Given the description of an element on the screen output the (x, y) to click on. 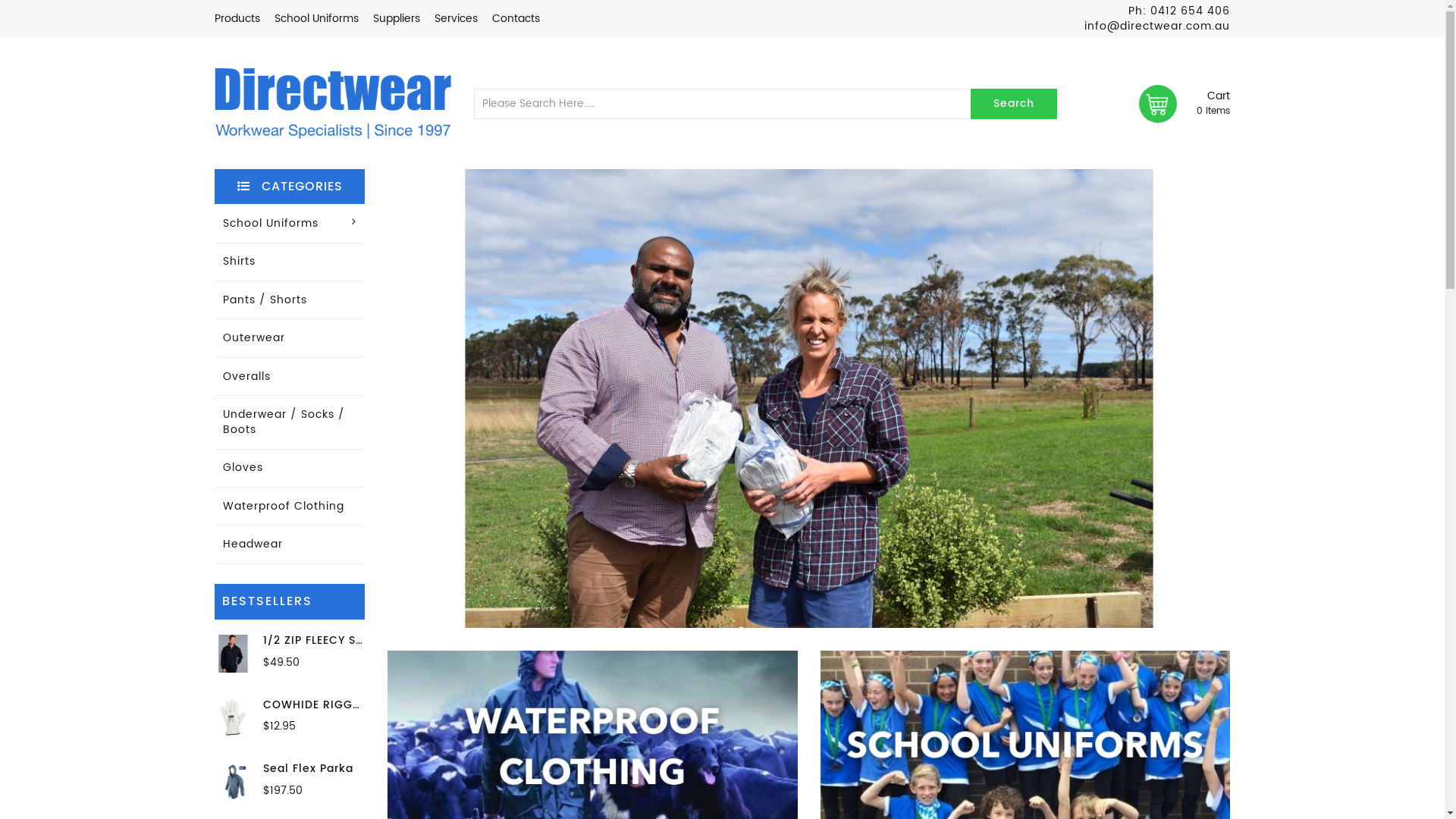
Services Element type: text (454, 18)
Seal Flex Parka Element type: text (308, 768)
Suppliers Element type: text (396, 18)
Outerwear Element type: text (289, 338)
COWHIDE RIGGER GLOVES Element type: text (338, 704)
Directwear Element type: hover (332, 103)
Search Element type: text (1013, 103)
Shirts Element type: text (289, 262)
Seal Flex Parka Element type: hover (232, 781)
Cart
0 items Element type: text (1184, 103)
Pants / Shorts Element type: text (289, 300)
info@directwear.com.au Element type: text (1157, 25)
Ph: 0412 654 406 Element type: text (1179, 10)
Headwear Element type: text (289, 544)
Contacts Element type: text (515, 18)
Products Element type: text (236, 18)
Waterproof Clothing Element type: text (289, 506)
School Uniforms Element type: text (316, 18)
Overalls Element type: text (289, 376)
1/2 ZIP FLEECY SWEAT 320GSM Element type: text (351, 639)
1/2 ZIP FLEECY SWEAT 320GSM Element type: hover (232, 653)
Gloves Element type: text (289, 468)
School Uniforms Element type: text (289, 223)
COWHIDE RIGGER GLOVES Element type: hover (232, 718)
Underwear / Socks / Boots Element type: text (289, 421)
